Given the description of an element on the screen output the (x, y) to click on. 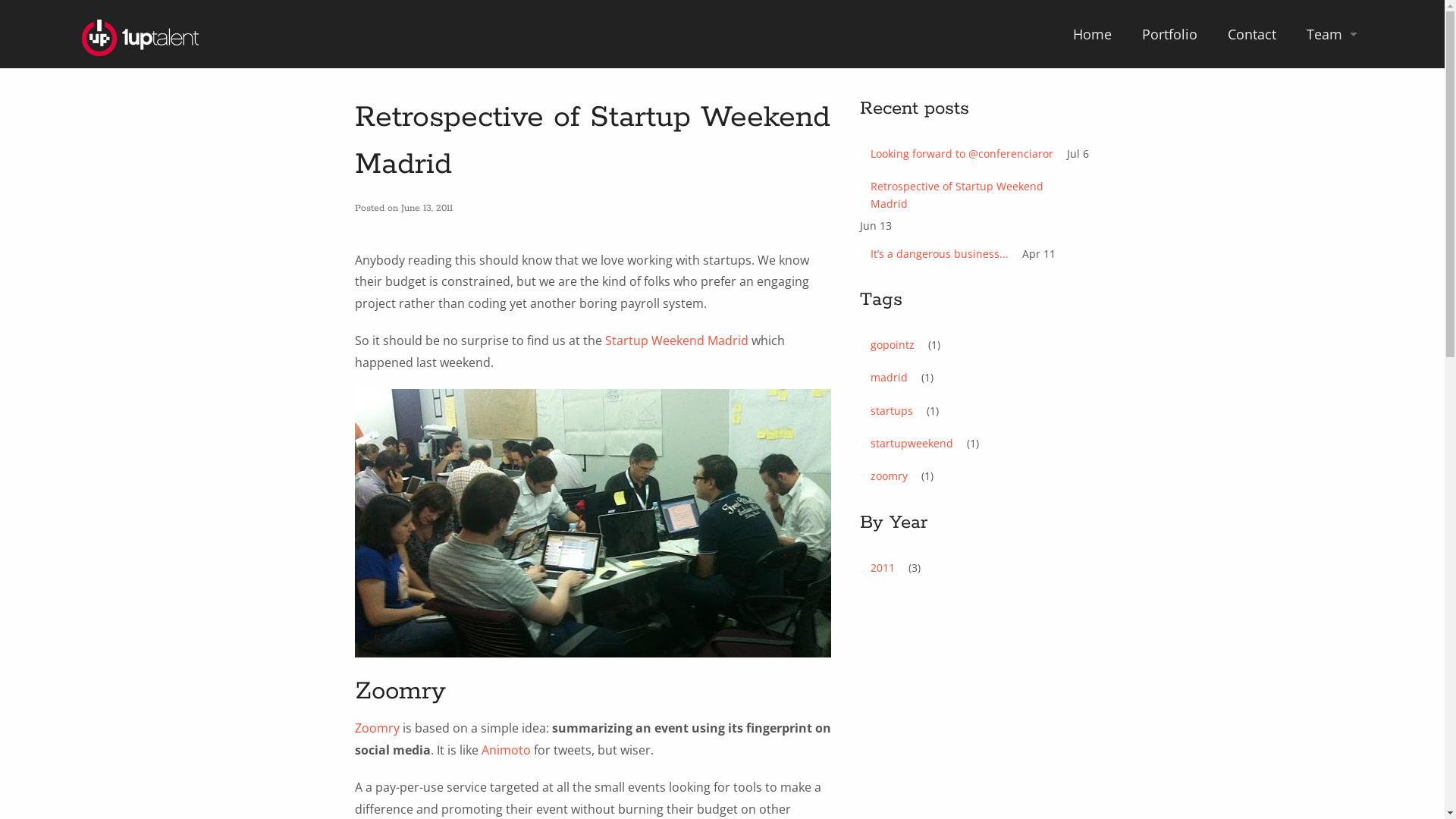
Portfolio Element type: text (1169, 33)
Retrospective of Startup Weekend Madrid Element type: text (974, 194)
2011 Element type: text (882, 567)
startupweekend Element type: text (911, 443)
Startup Weekend Madrid Element type: text (676, 340)
Zoomry Element type: text (376, 727)
Home Element type: text (1091, 33)
Looking forward to @conferenciaror Element type: text (961, 153)
zoomry Element type: text (888, 475)
Team Element type: text (1331, 33)
gopointz Element type: text (892, 344)
Team Element type: text (1331, 170)
German Del Zotto Element type: text (1331, 124)
Contact Element type: text (1251, 33)
startups Element type: text (891, 410)
madrid Element type: text (888, 377)
Animoto Element type: text (505, 749)
1uptalent Element type: text (140, 41)
